Given the description of an element on the screen output the (x, y) to click on. 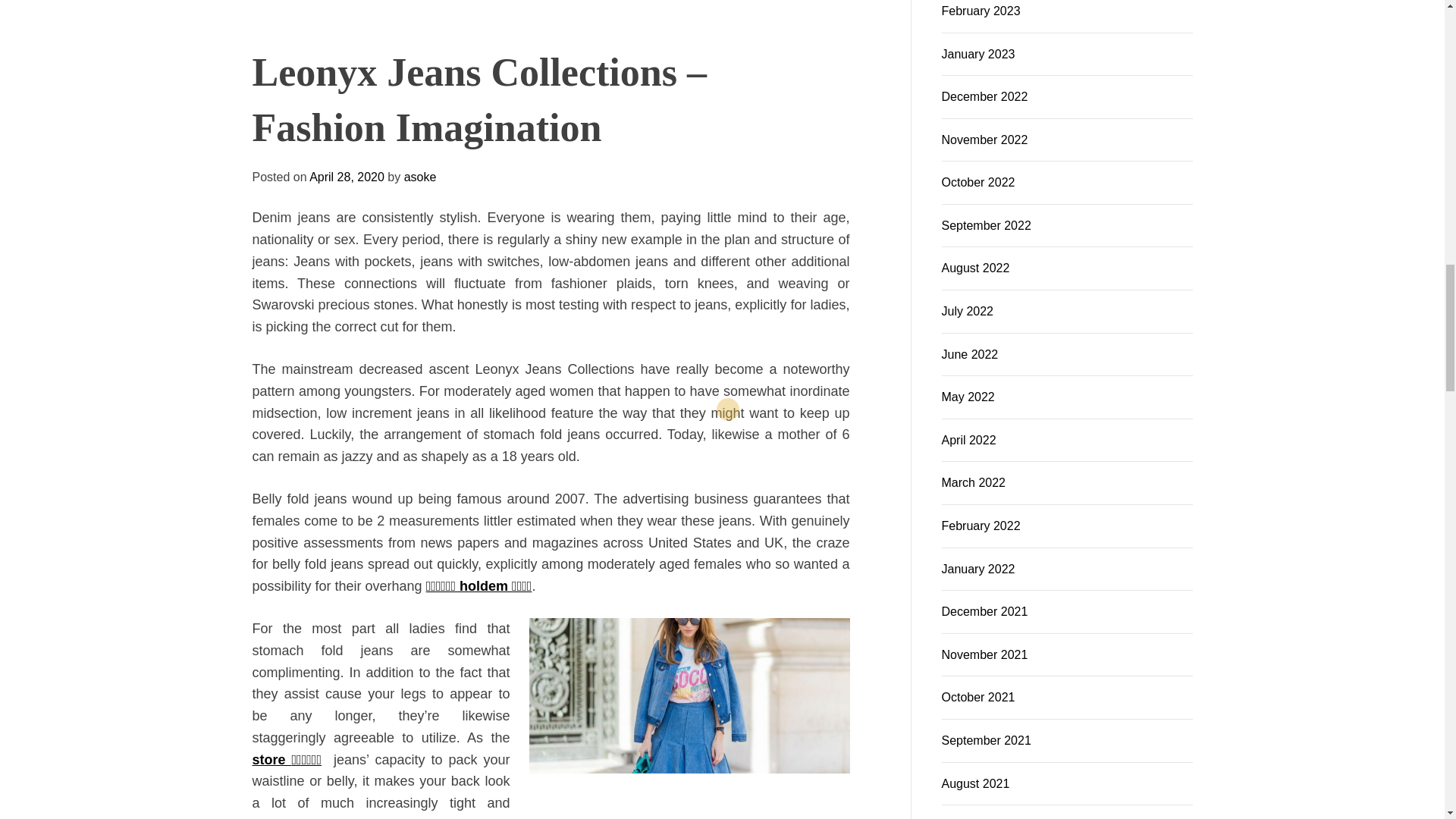
asoke (325, 23)
asoke (601, 34)
asoke (601, 34)
